Given the description of an element on the screen output the (x, y) to click on. 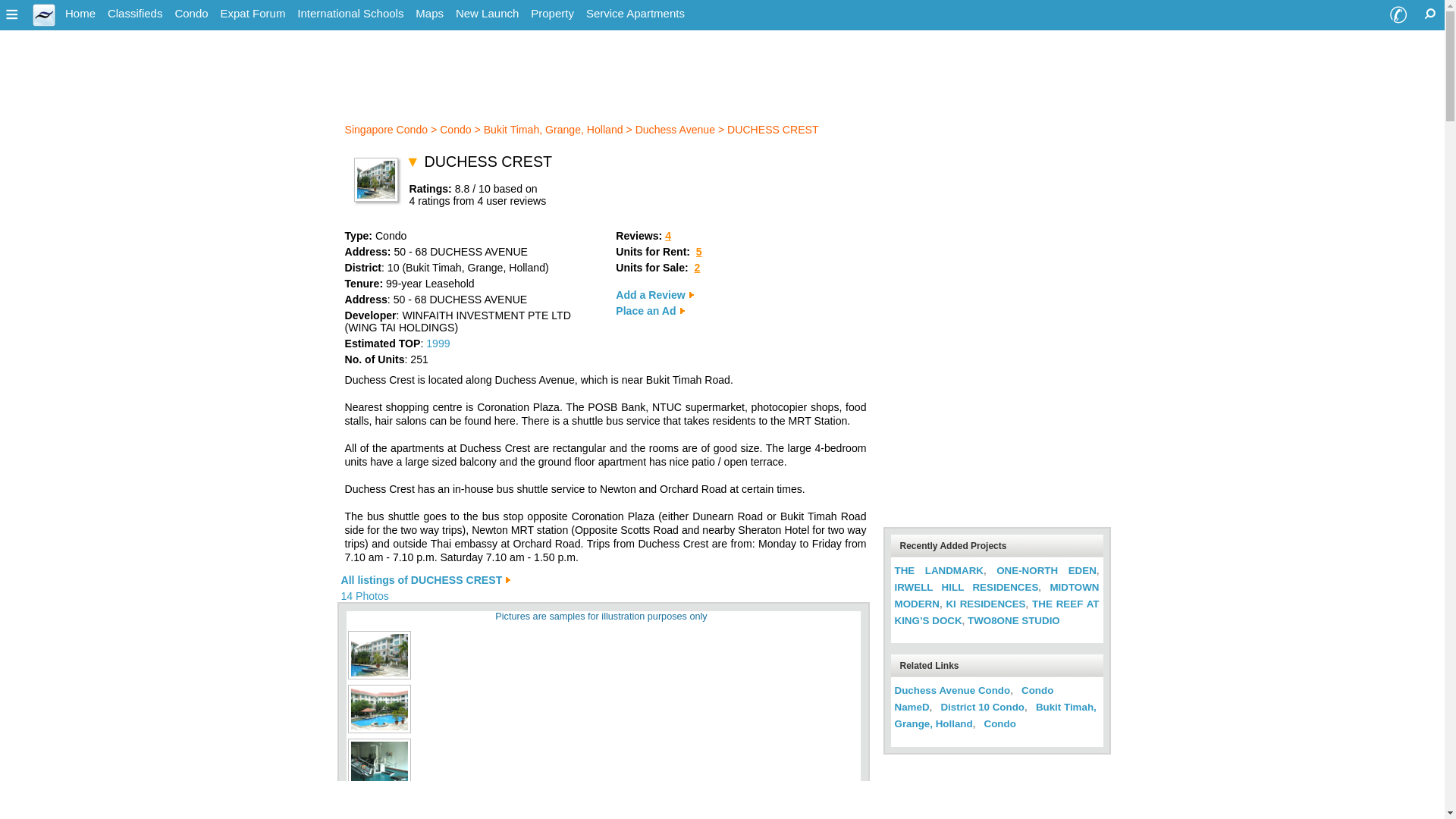
Property (551, 13)
Singapore Expats (44, 21)
New Launch (486, 13)
Singapore Service Apartments (634, 13)
Singapore Classified Ads (135, 13)
Singapore Street Maps (429, 13)
Singapore Expats (80, 13)
Service Apartments (634, 13)
New Property Launch (486, 13)
Home (80, 13)
